Given the description of an element on the screen output the (x, y) to click on. 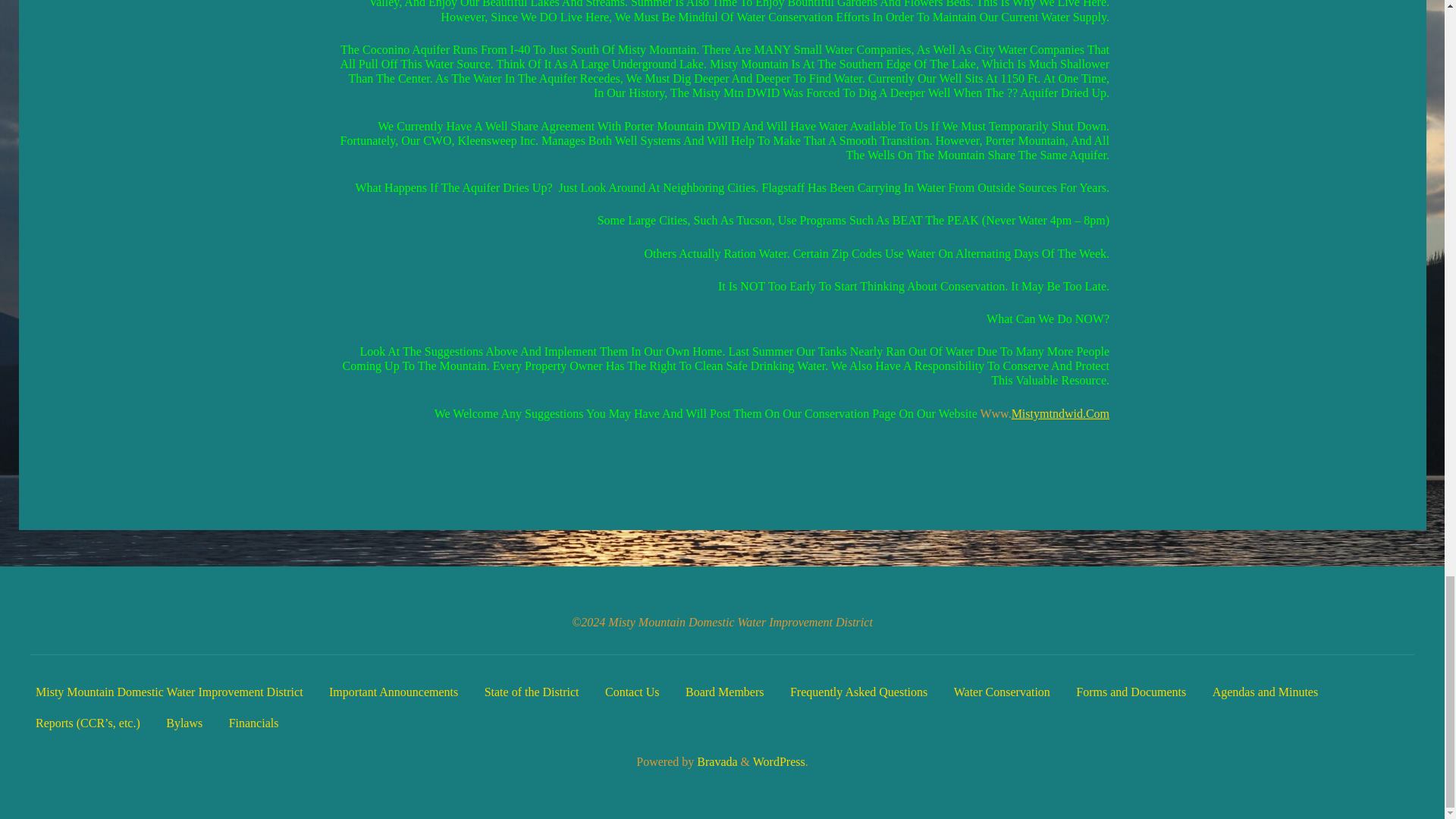
Board Members (724, 692)
Bravada WordPress Theme by Cryout Creations (715, 761)
Mistymtndwid.Com (1059, 413)
State of the District (531, 692)
Misty Mountain Domestic Water Improvement District (168, 692)
Semantic Personal Publishing Platform (778, 761)
Contact Us (632, 692)
Important Announcements (393, 692)
